Given the description of an element on the screen output the (x, y) to click on. 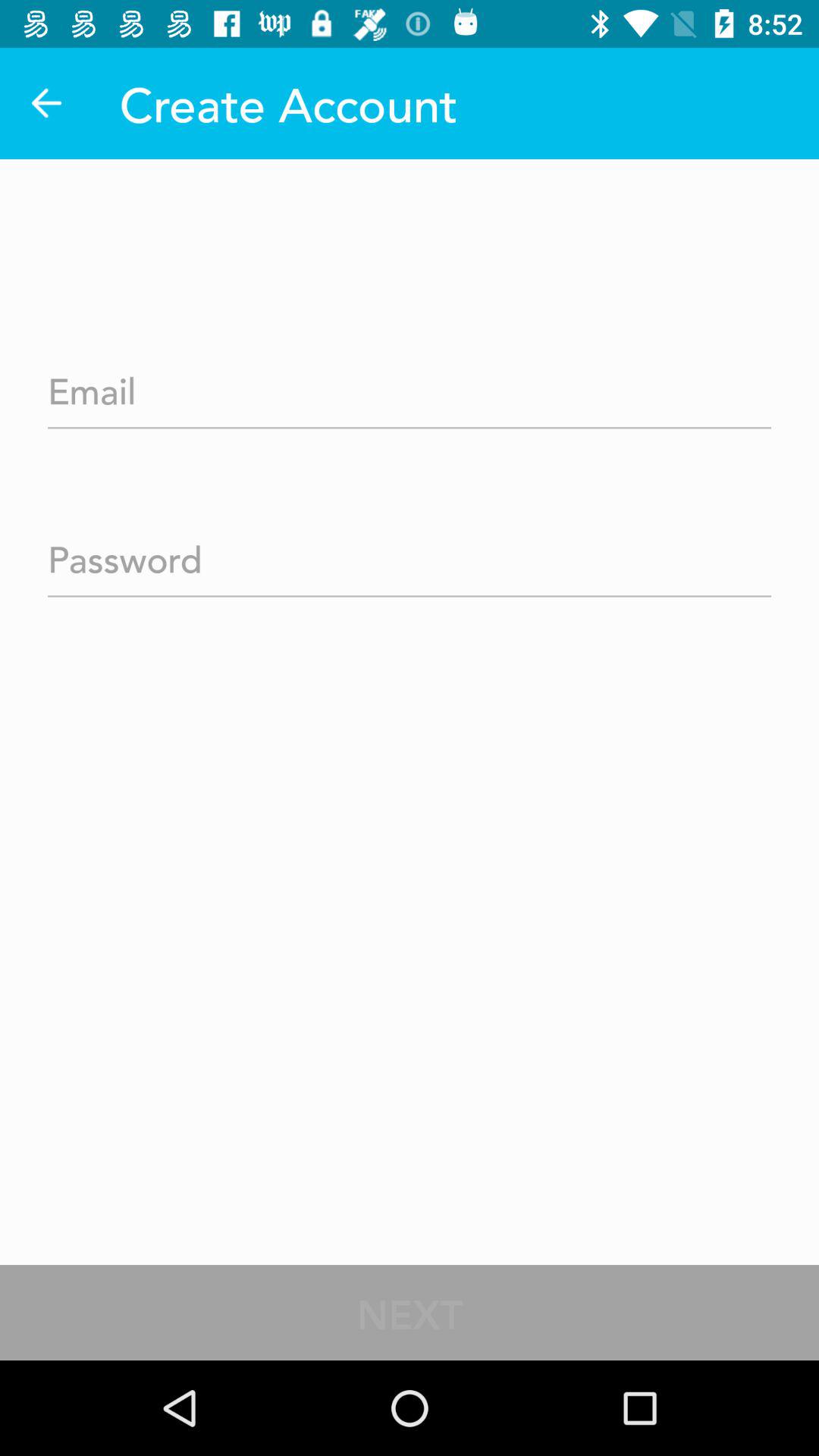
click the next icon (409, 1312)
